Given the description of an element on the screen output the (x, y) to click on. 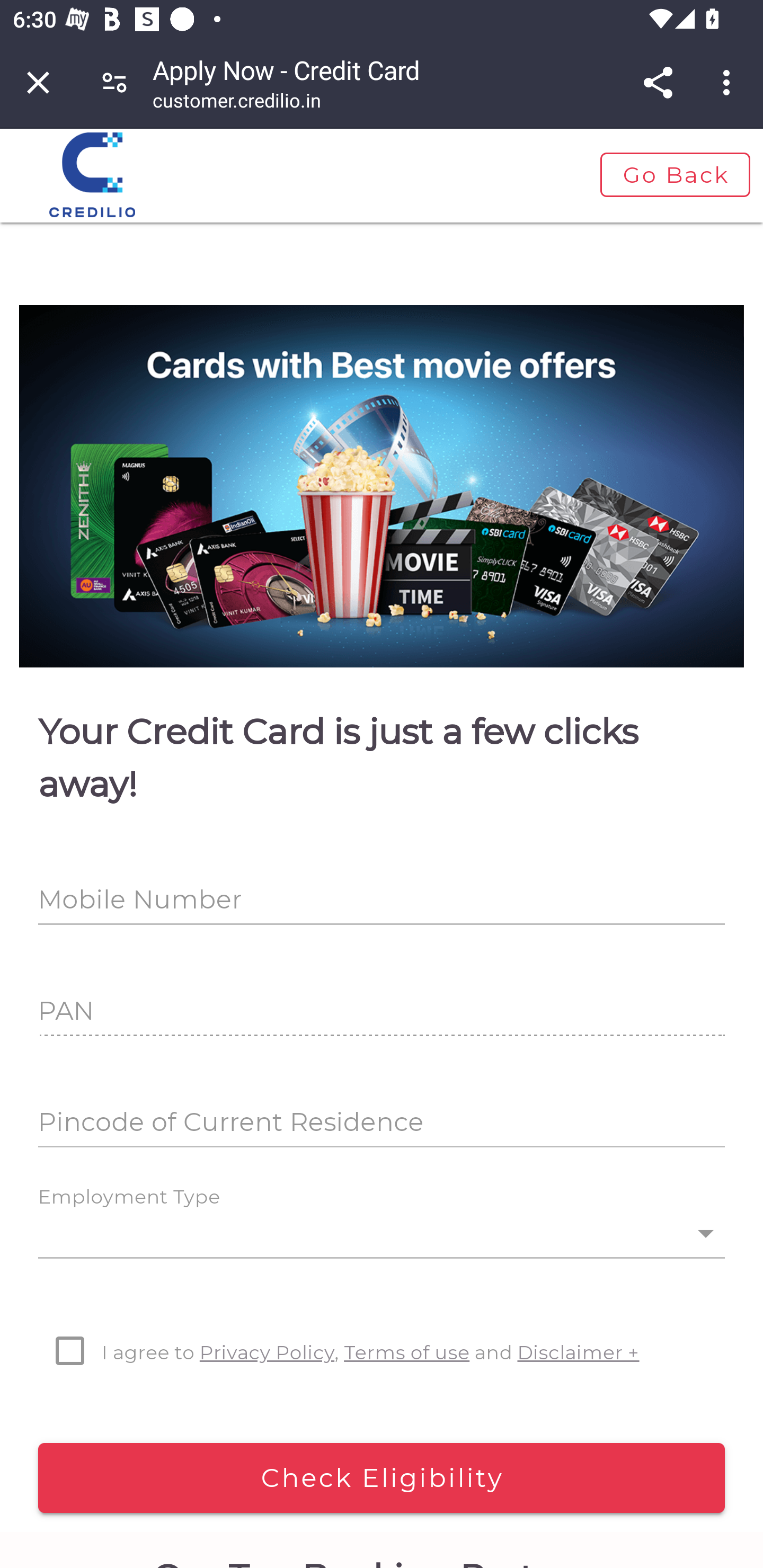
Close tab (38, 82)
Share (657, 82)
Customize and control Google Chrome (729, 82)
Connection is secure (114, 81)
customer.credilio.in (236, 103)
Go Back (674, 174)
Privacy Policy (266, 1352)
Terms of use (406, 1352)
Check Eligibility (381, 1477)
